Given the description of an element on the screen output the (x, y) to click on. 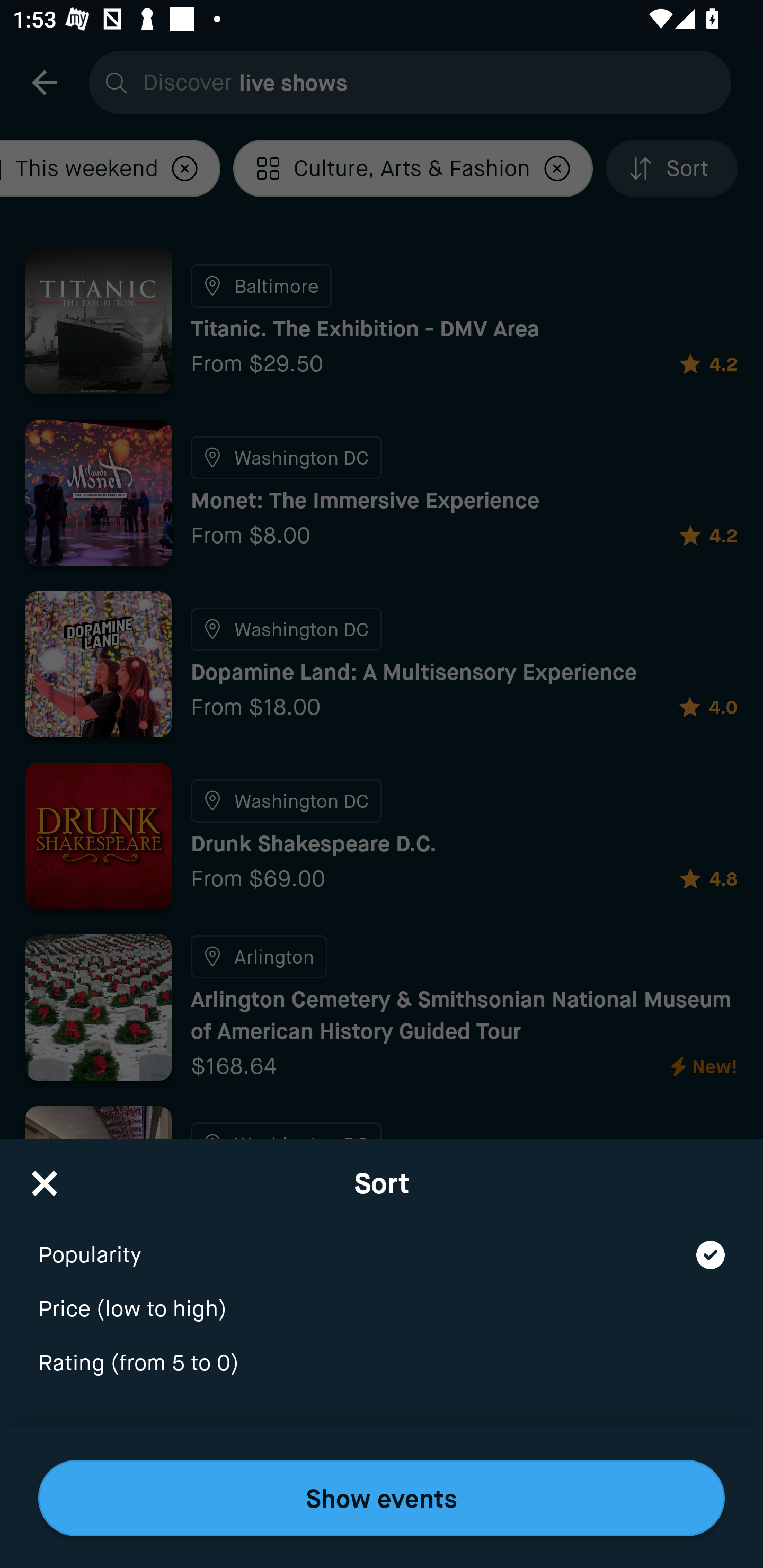
CloseButton (44, 1177)
Popularity Selected Icon (381, 1243)
Price (low to high) (381, 1297)
Rating (from 5 to 0) (381, 1362)
Show events (381, 1497)
